Given the description of an element on the screen output the (x, y) to click on. 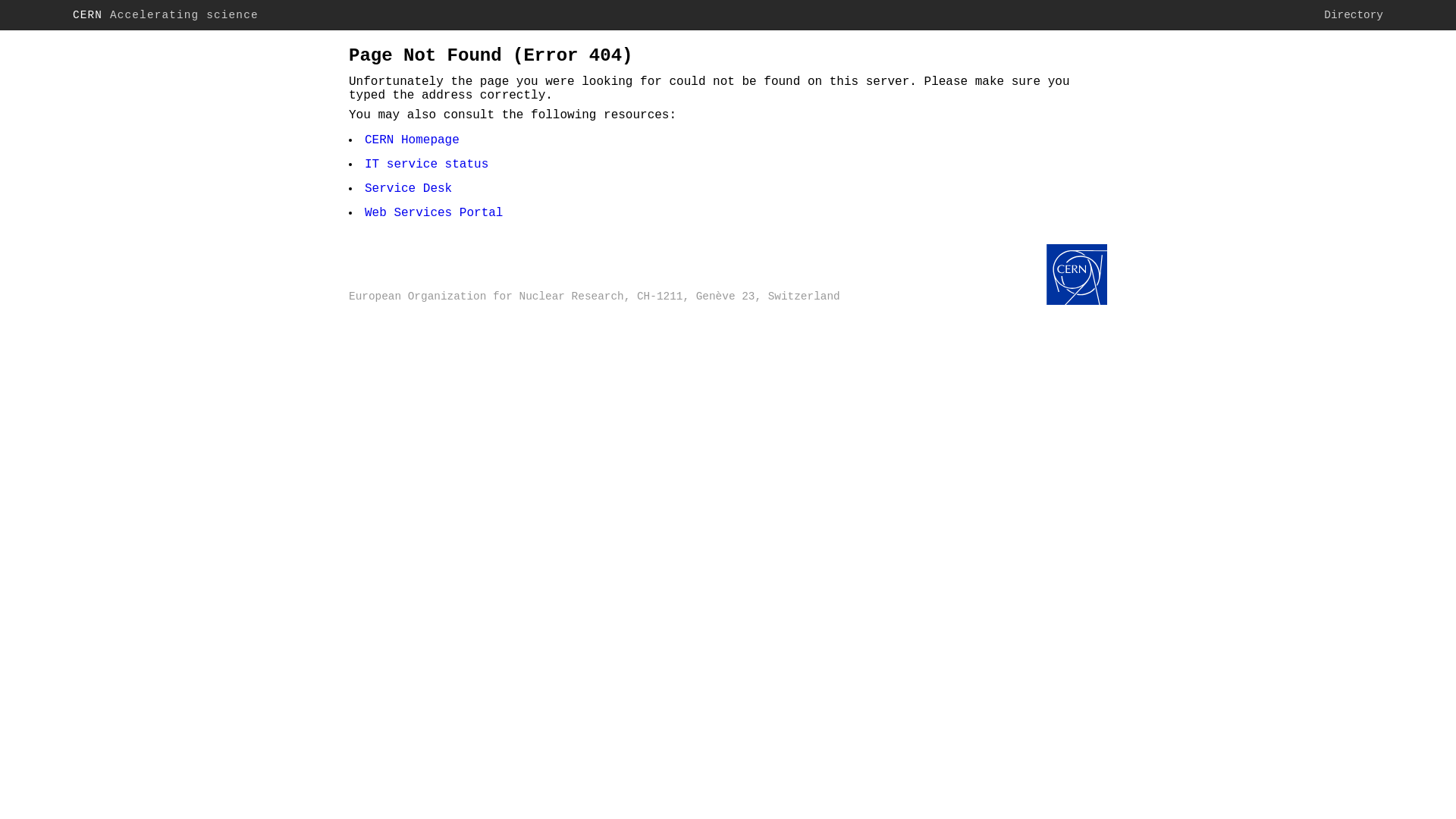
Directory Element type: text (1353, 15)
Web Services Portal Element type: text (433, 212)
IT service status Element type: text (426, 164)
CERN Homepage Element type: hover (1076, 275)
CERN Homepage Element type: text (411, 140)
Service Desk Element type: text (407, 188)
CERN Accelerating science Element type: text (165, 15)
